Given the description of an element on the screen output the (x, y) to click on. 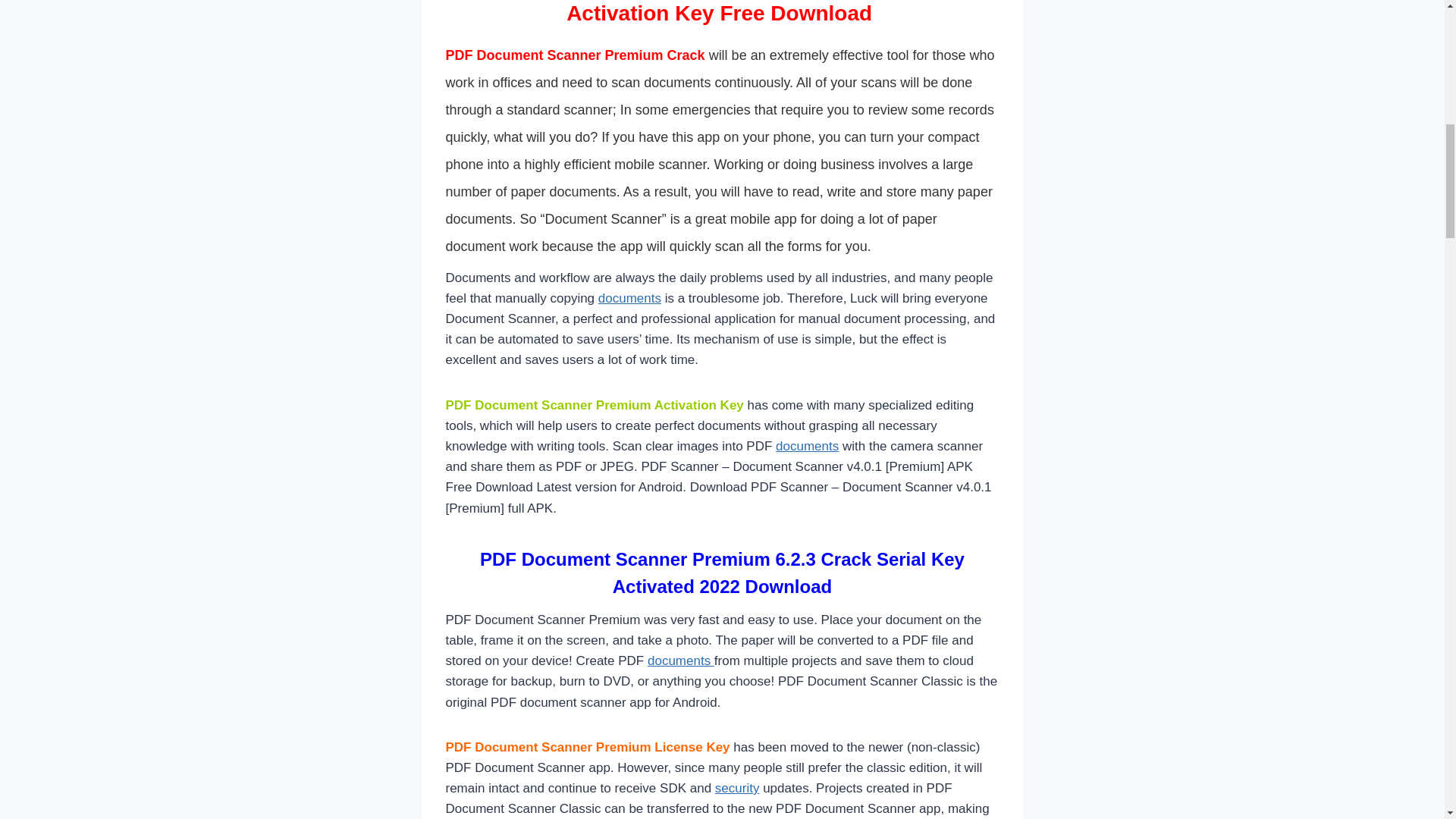
security (737, 788)
documents (807, 445)
documents (629, 298)
phone (791, 136)
documents (680, 660)
